Given the description of an element on the screen output the (x, y) to click on. 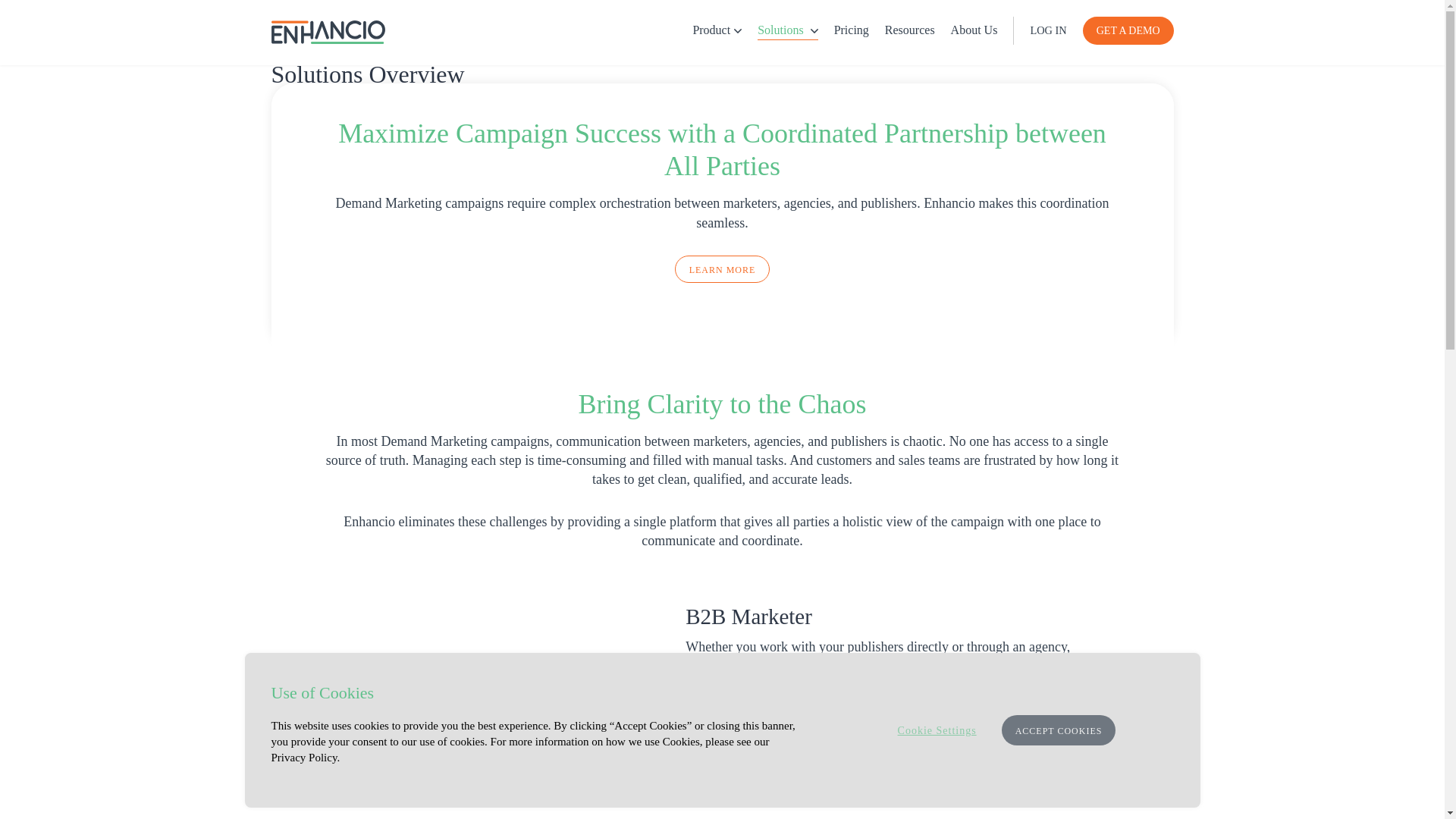
GET A DEMO (1128, 30)
LEARN MORE (722, 268)
Pricing (851, 30)
LOG IN (1047, 30)
LEARN MORE (732, 788)
Resources (909, 30)
Solutions (786, 30)
Product (717, 30)
About Us (973, 30)
